Given the description of an element on the screen output the (x, y) to click on. 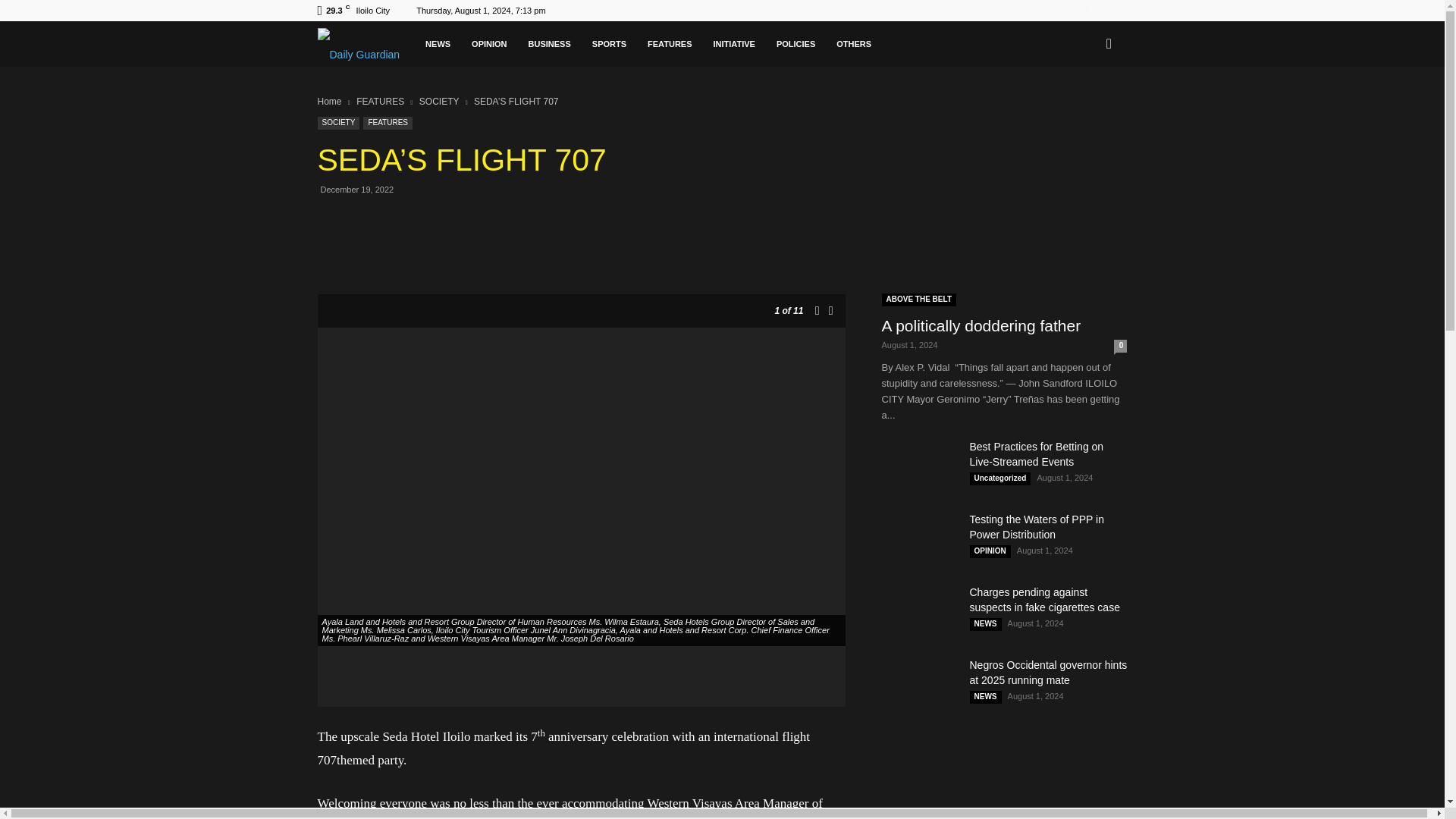
NEWS (561, 43)
Daily Guardian (427, 47)
We write, you decide. (419, 48)
Facebook (1090, 10)
Twitter (1114, 10)
